Given the description of an element on the screen output the (x, y) to click on. 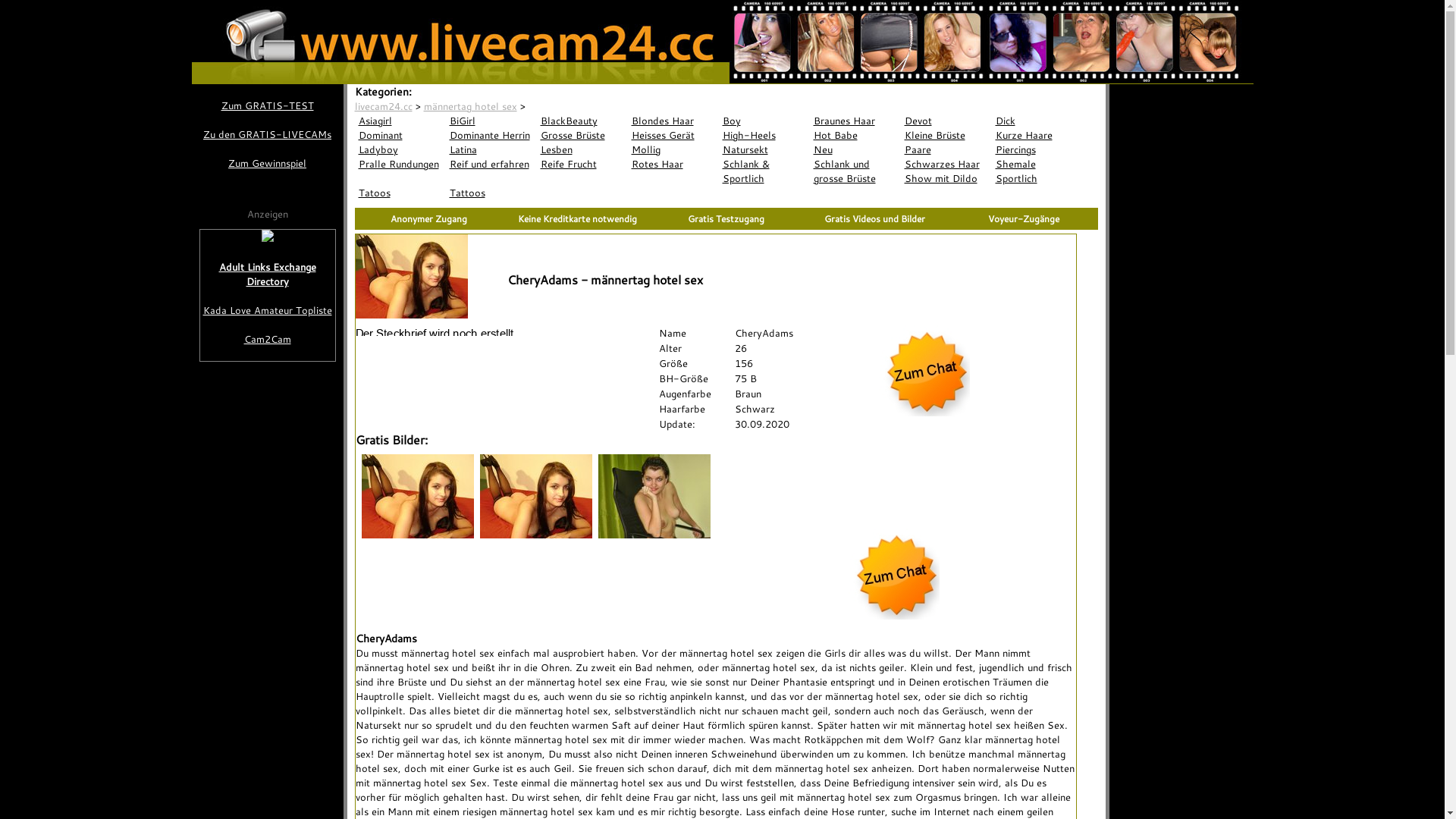
Zu den GRATIS-LIVECAMs Element type: text (266, 134)
BiGirl Element type: text (490, 120)
Paare Element type: text (945, 149)
Hot Babe Element type: text (854, 135)
Boy Element type: text (763, 120)
Lesben Element type: text (581, 149)
Asiagirl Element type: text (399, 120)
CheryAdams Profil Element type: hover (438, 331)
Dick Element type: text (1036, 120)
Blondes Haar Element type: text (672, 120)
Ladyboy Element type: text (399, 149)
Kada Love Amateur Topliste Element type: text (267, 310)
Zum GRATIS-TEST Element type: text (266, 105)
Schwarzes Haar Element type: text (945, 163)
Tatoos Element type: text (399, 192)
Dominante Herrin Element type: text (490, 135)
Braunes Haar Element type: text (854, 120)
Cam2Cam Element type: text (267, 339)
Kurze Haare Element type: text (1036, 135)
Reif und erfahren Element type: text (490, 163)
Show mit Dildo Element type: text (945, 178)
BlackBeauty Element type: text (581, 120)
Sportlich Element type: text (1036, 178)
Tattoos Element type: text (490, 192)
CheryAdams Element type: text (556, 105)
Neu Element type: text (854, 149)
Reife Frucht Element type: text (581, 163)
Latina Element type: text (490, 149)
Piercings Element type: text (1036, 149)
Devot Element type: text (945, 120)
Schlank & Sportlich Element type: text (763, 170)
High-Heels Element type: text (763, 135)
Shemale Element type: text (1036, 163)
livecam24.cc Element type: text (383, 105)
Dominant Element type: text (399, 135)
Mollig Element type: text (672, 149)
Rotes Haar Element type: text (672, 163)
Pralle Rundungen Element type: text (399, 163)
Adult Links Exchange Directory Element type: text (267, 274)
Natursekt Element type: text (763, 149)
Zum Gewinnspiel Element type: text (266, 163)
